Given the description of an element on the screen output the (x, y) to click on. 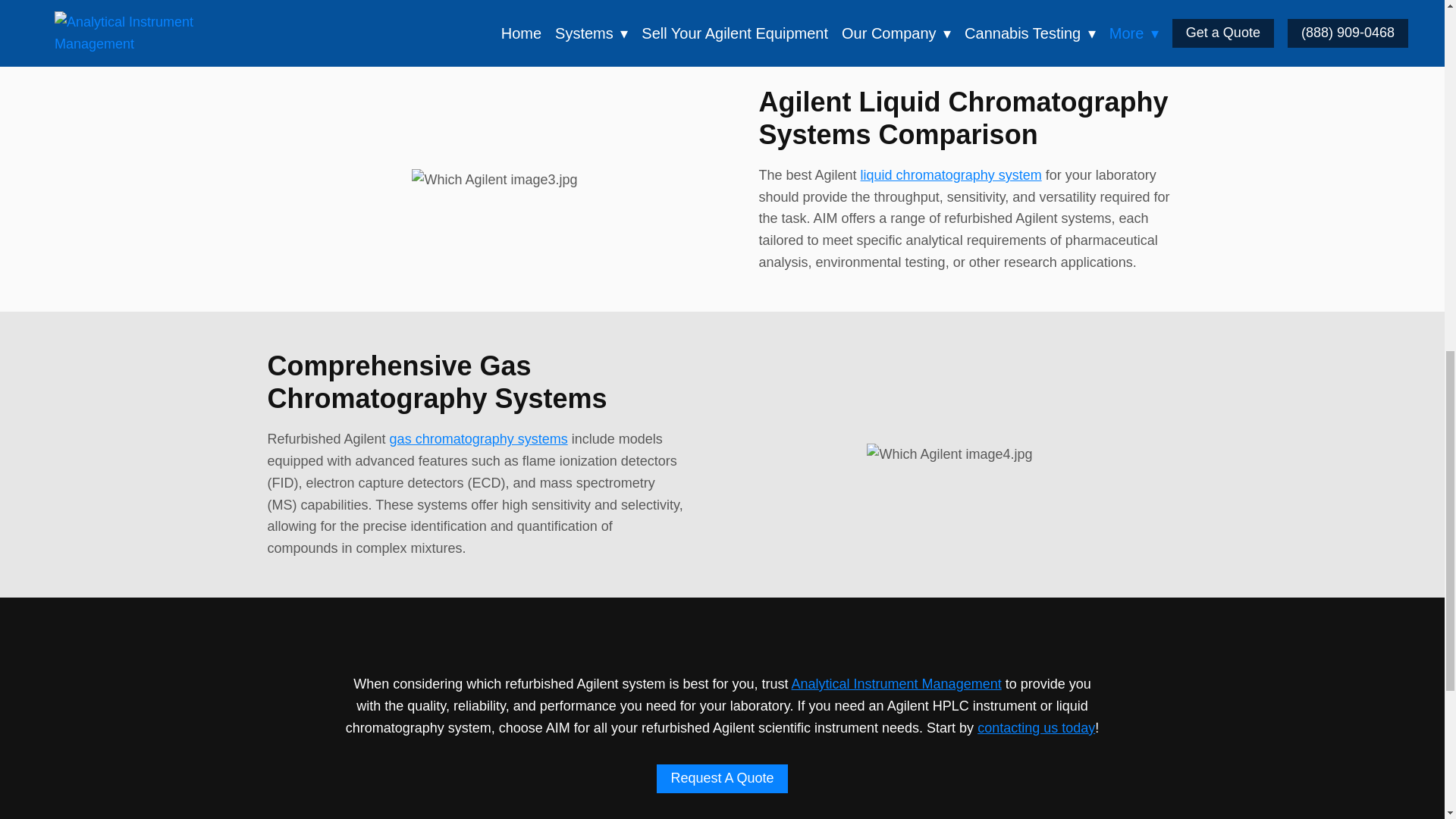
contacting us today (1035, 727)
Analytical Instrument Management (896, 683)
liquid chromatography system (951, 174)
gas chromatography systems (478, 438)
Request A Quote (721, 778)
